Given the description of an element on the screen output the (x, y) to click on. 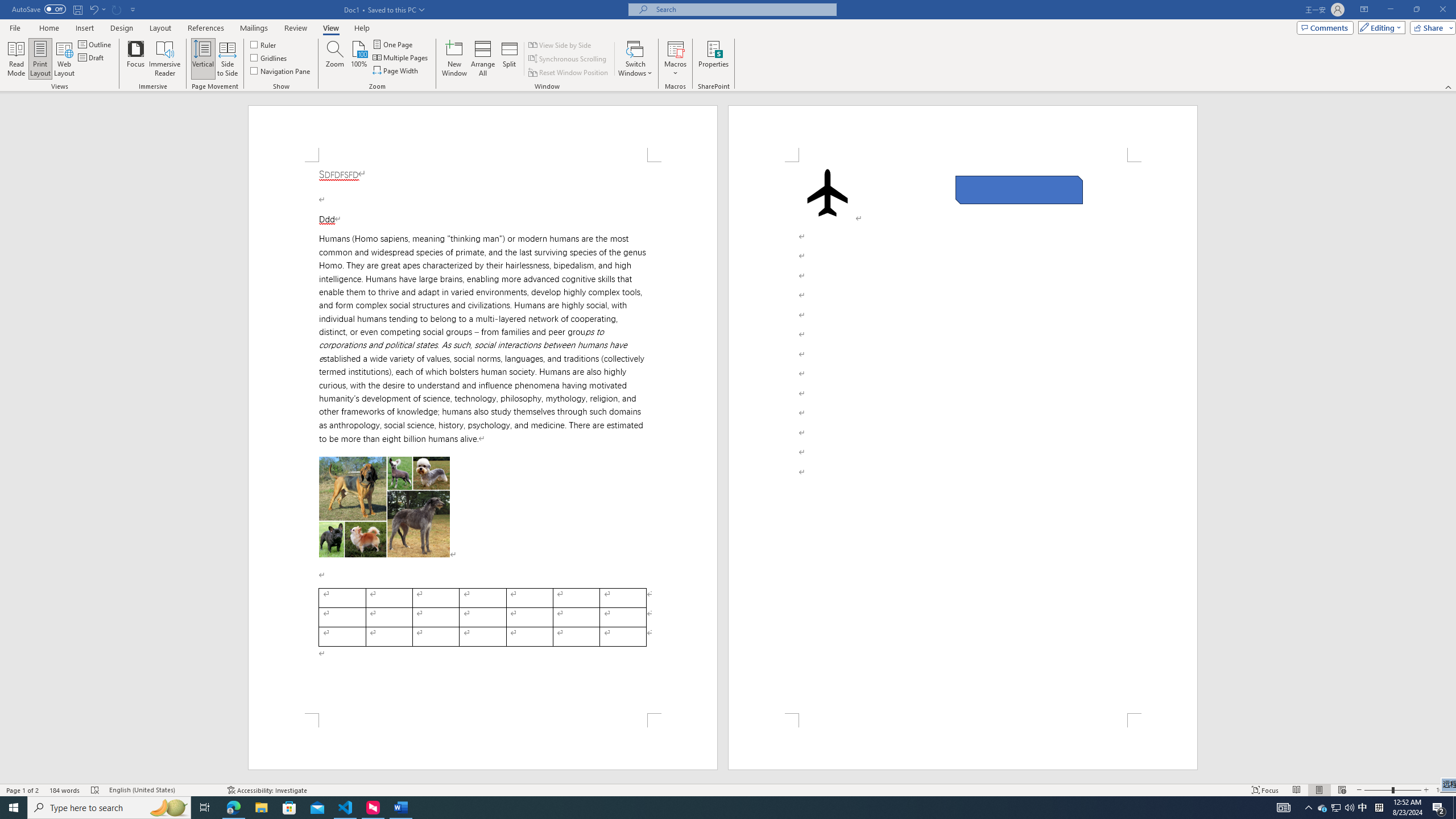
Draft (91, 56)
New Window (454, 58)
One Page (393, 44)
Microsoft search (742, 9)
Accessibility Checker Accessibility: Investigate (266, 790)
View Macros (675, 48)
Print Layout (40, 58)
Spelling and Grammar Check Errors (94, 790)
Running applications (700, 807)
Rectangle: Diagonal Corners Snipped 2 (1019, 189)
Side to Side (226, 58)
Vertical (202, 58)
Morphological variation in six dogs (383, 507)
